Given the description of an element on the screen output the (x, y) to click on. 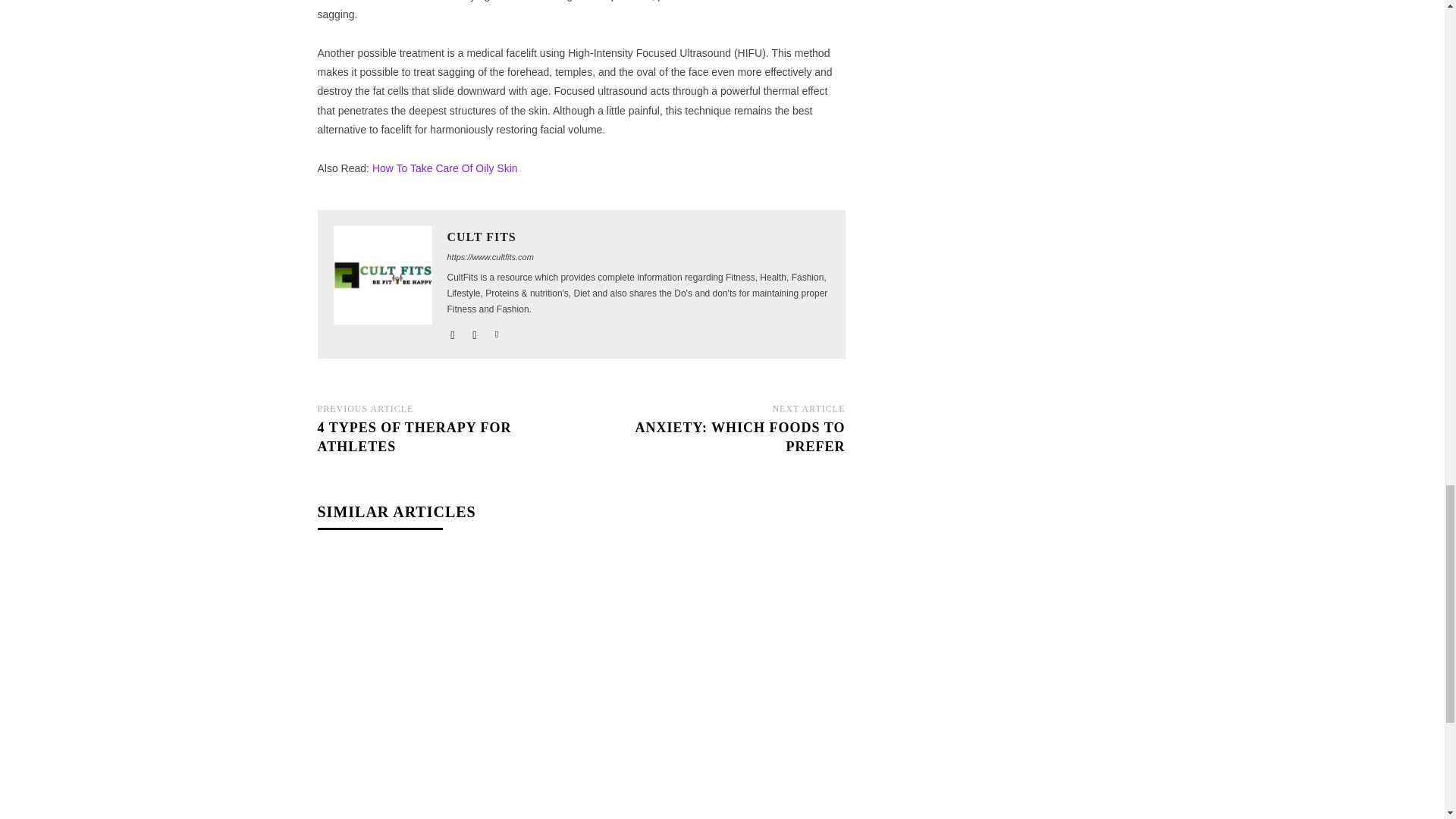
Muscle Pain Workout: How To Prevent Them (444, 638)
instagram (474, 331)
facebook (452, 331)
twitter (497, 331)
Liver Cirrhosis: What To Do And What To Eat (716, 638)
